Given the description of an element on the screen output the (x, y) to click on. 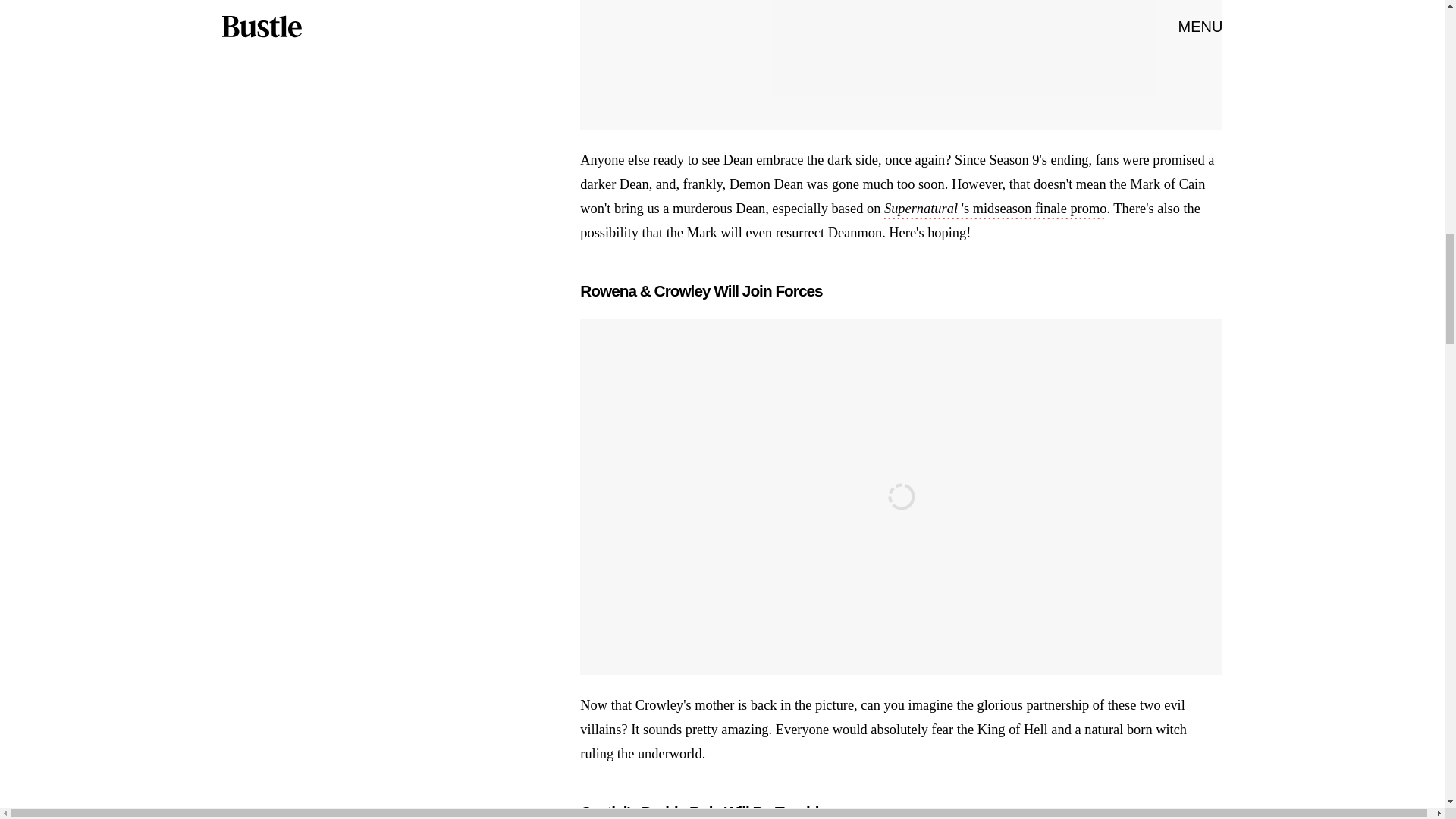
Supernatural 's midseason finale promo (994, 209)
